Given the description of an element on the screen output the (x, y) to click on. 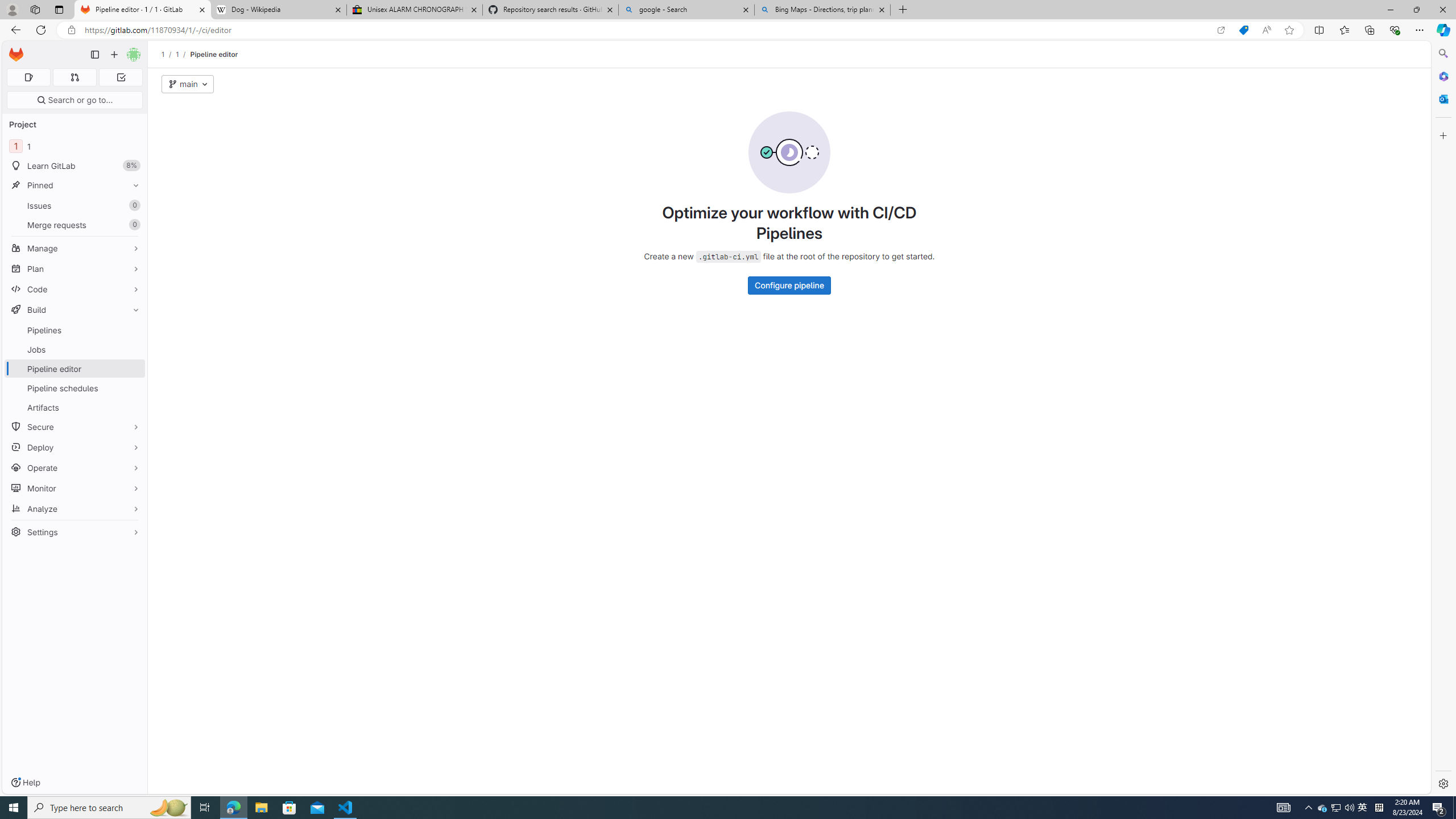
Merge requests0 (74, 224)
Analyze (74, 508)
Pipeline schedules (74, 387)
Build (74, 309)
Pipelines (74, 330)
Code (74, 289)
1 (177, 53)
Assigned issues 0 (28, 76)
